Given the description of an element on the screen output the (x, y) to click on. 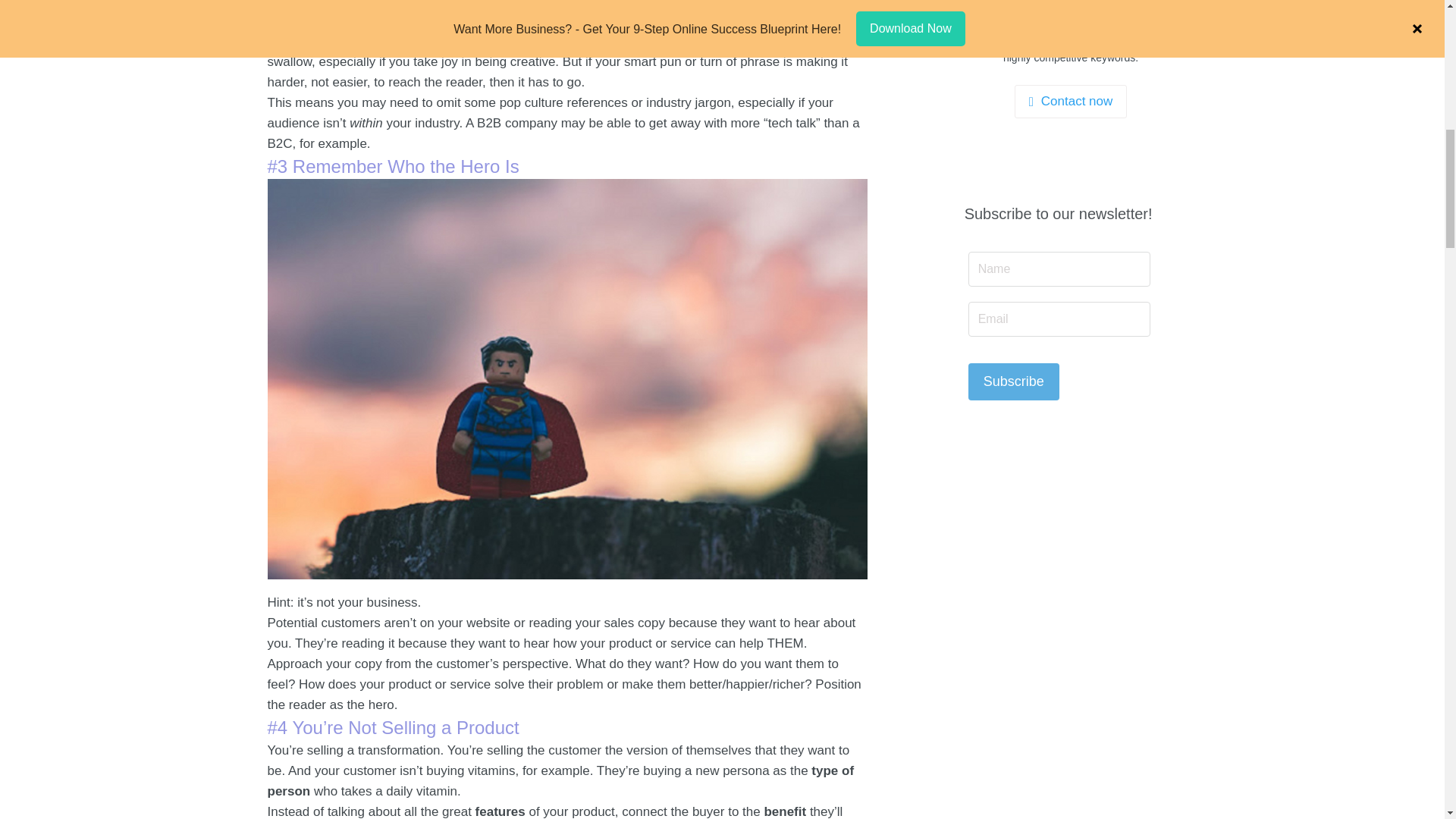
Subscribe (1013, 381)
